Given the description of an element on the screen output the (x, y) to click on. 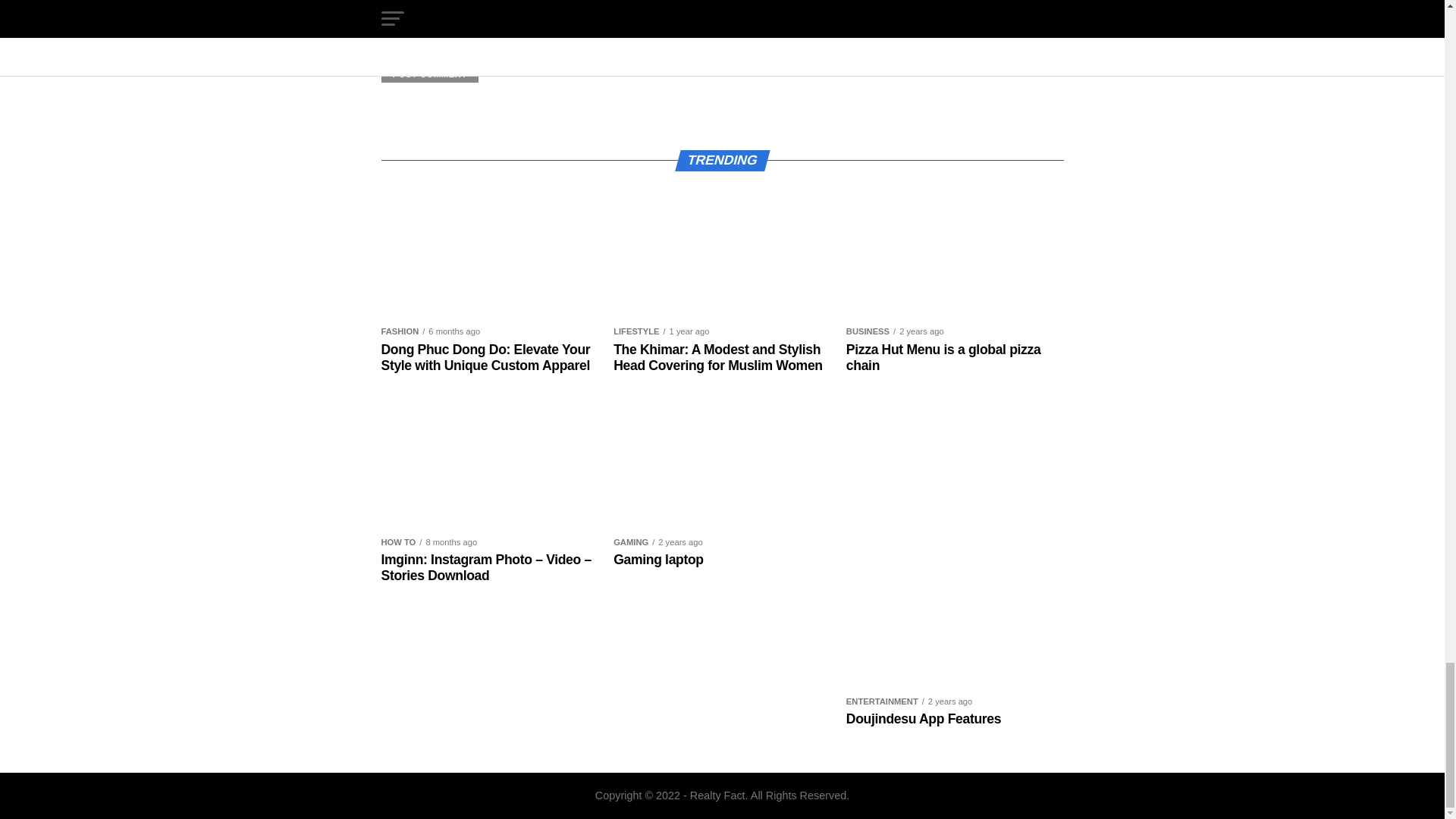
yes (385, 31)
Post Comment (428, 74)
Post Comment (428, 74)
